Given the description of an element on the screen output the (x, y) to click on. 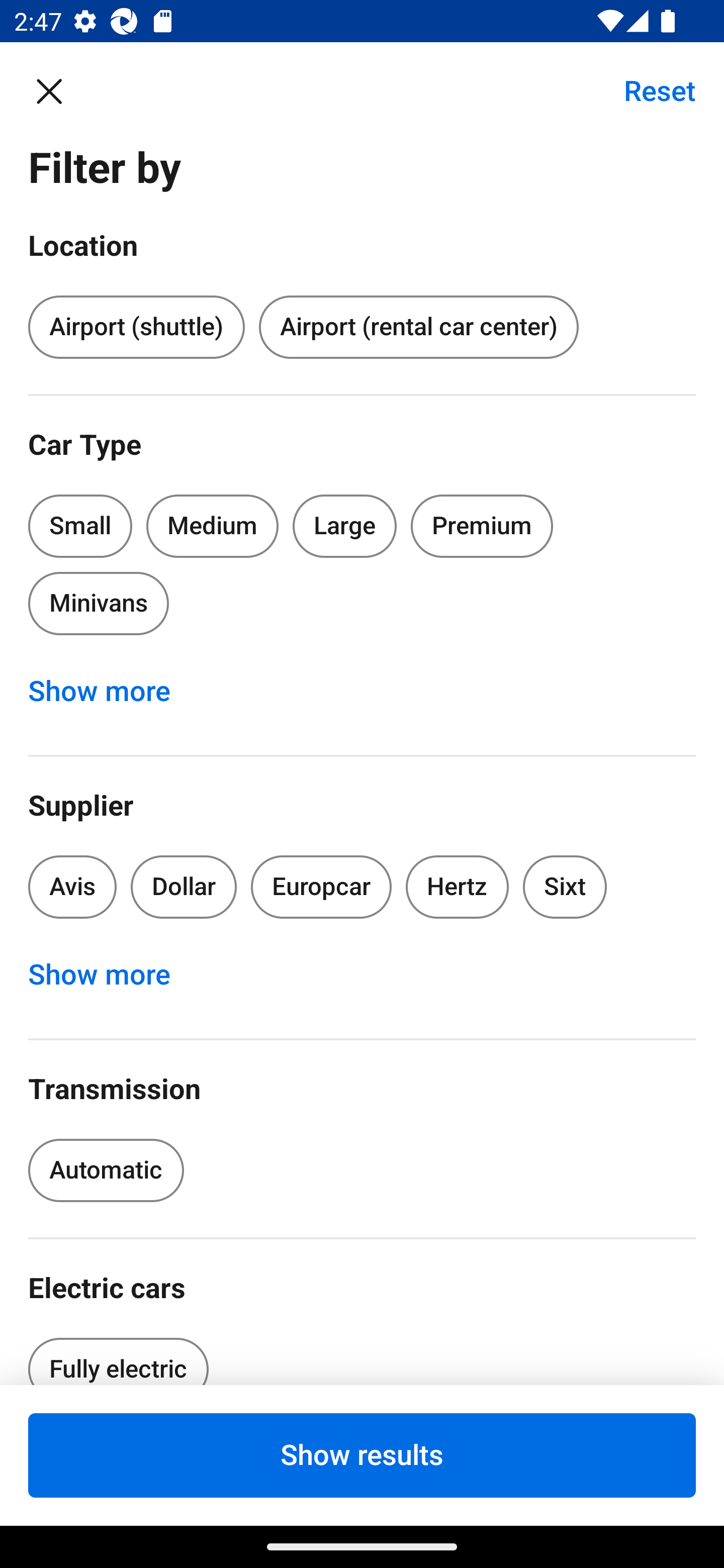
Close (59, 90)
Reset (649, 90)
Airport (shuttle) (136, 327)
Airport (rental car center) (418, 327)
Small (80, 525)
Medium (212, 525)
Large (344, 525)
Premium (482, 525)
Minivans (98, 603)
Show more (109, 691)
Avis (72, 887)
Dollar (183, 887)
Europcar (321, 887)
Hertz (457, 887)
Sixt (564, 887)
Show more (109, 974)
Automatic (105, 1170)
Fully electric (118, 1355)
Show results (361, 1454)
